Given the description of an element on the screen output the (x, y) to click on. 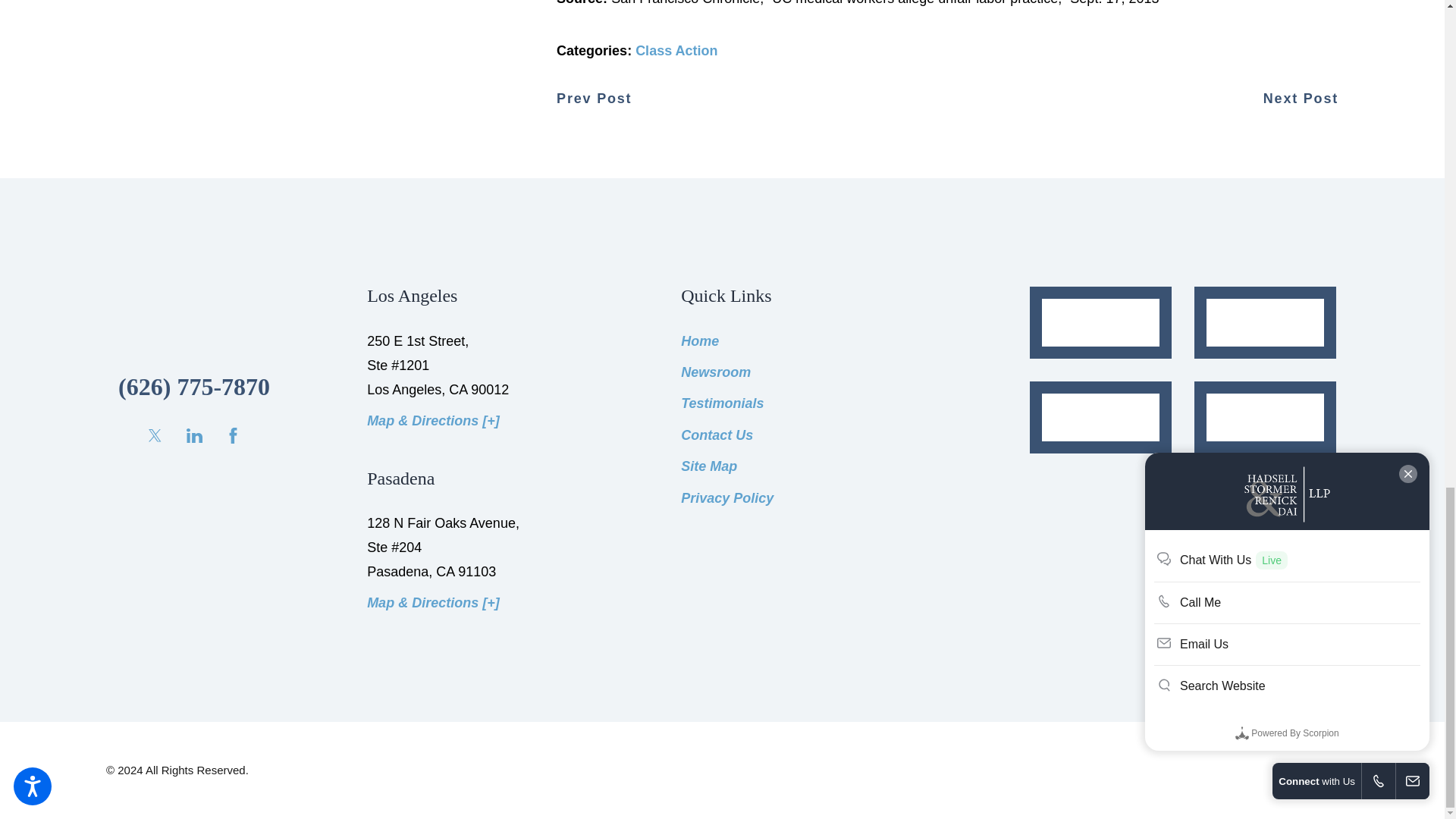
LinkedIn (194, 435)
Facebook (233, 435)
Twitter (155, 435)
